Given the description of an element on the screen output the (x, y) to click on. 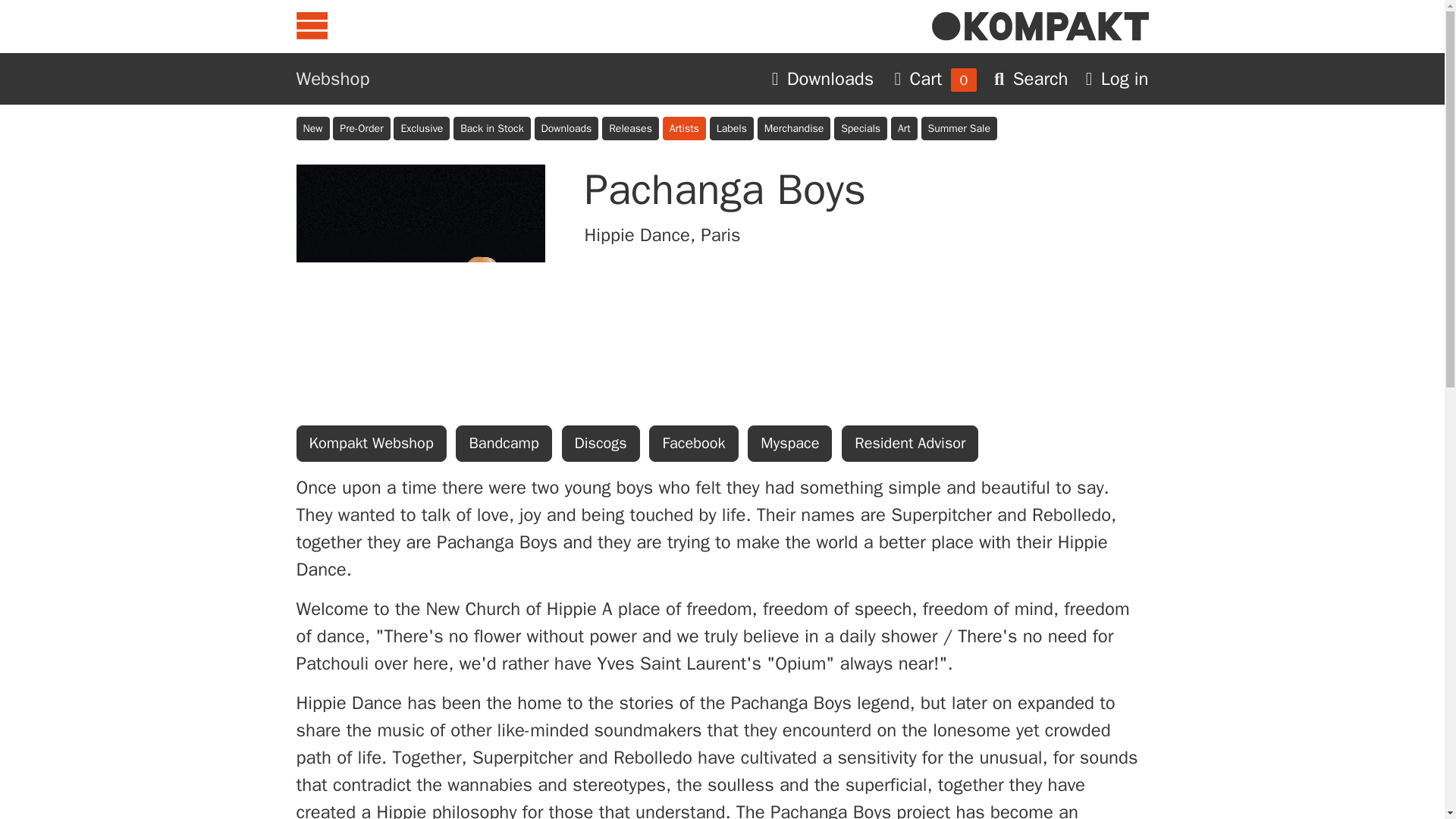
Pre-Order (361, 128)
Webshop (332, 78)
Artists (684, 128)
Myspace (789, 443)
Discogs (601, 443)
Specials (860, 128)
Releases (630, 128)
Log in (1117, 78)
New (312, 128)
Summer Sale (957, 128)
Search (1034, 78)
Art (904, 128)
Facebook (693, 443)
Downloads (566, 128)
Labels (732, 128)
